Given the description of an element on the screen output the (x, y) to click on. 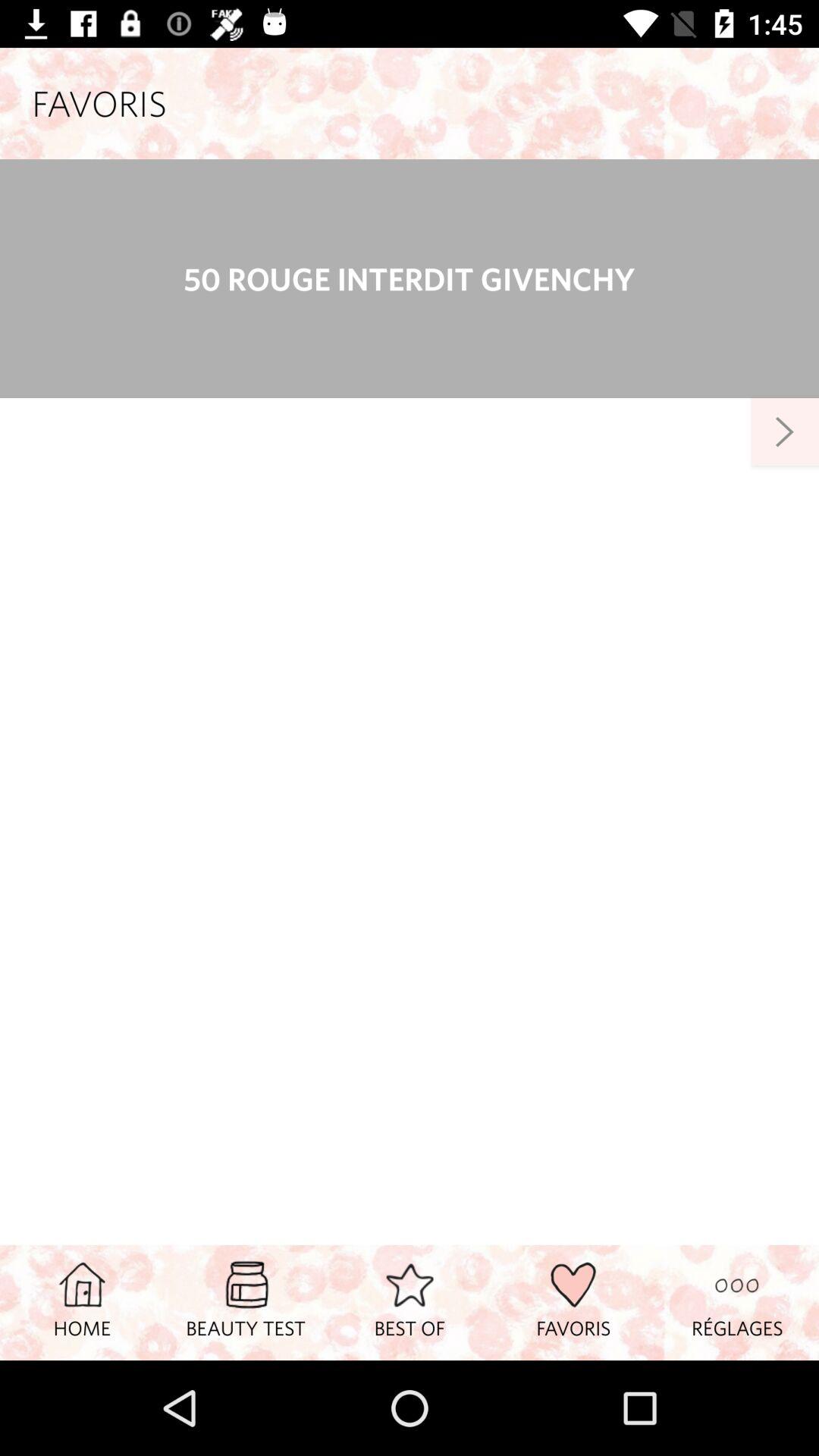
choose item to the right of the home item (245, 1302)
